Given the description of an element on the screen output the (x, y) to click on. 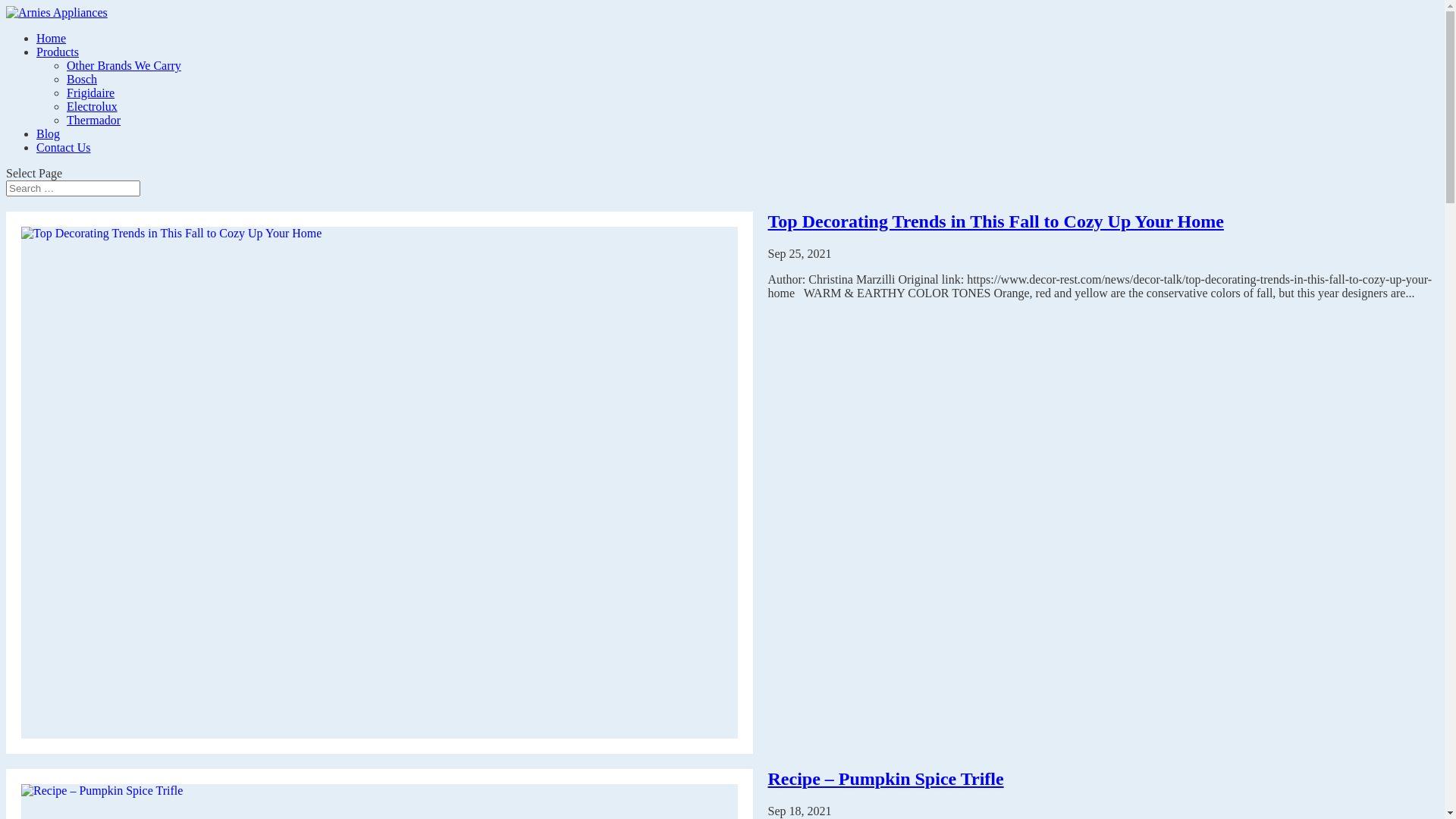
Search for: Element type: hover (73, 188)
Electrolux Element type: text (91, 106)
Frigidaire Element type: text (90, 92)
Products Element type: text (57, 51)
Blog Element type: text (47, 133)
Contact Us Element type: text (63, 147)
Home Element type: text (50, 37)
Other Brands We Carry Element type: text (123, 65)
Top Decorating Trends in This Fall to Cozy Up Your Home Element type: text (995, 221)
Thermador Element type: text (93, 119)
Bosch Element type: text (81, 78)
